Given the description of an element on the screen output the (x, y) to click on. 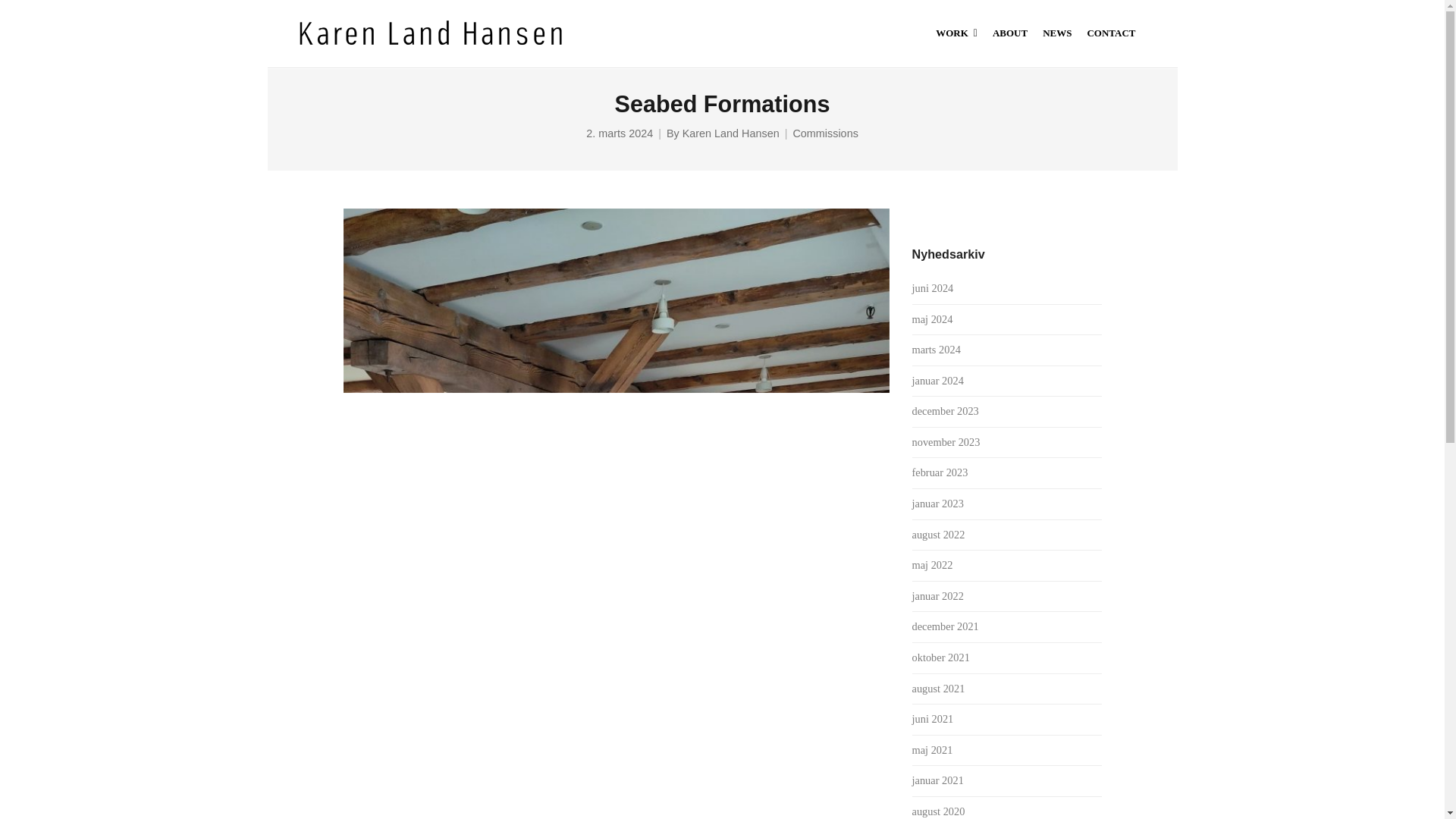
marts 2024 (935, 349)
januar 2023 (936, 503)
maj 2022 (931, 564)
juni 2024 (932, 287)
oktober 2021 (940, 657)
januar 2024 (936, 380)
Karen Land Hansen (730, 133)
maj 2024 (931, 318)
Commissions (824, 133)
View all posts in Commissions (824, 133)
januar 2022 (936, 595)
februar 2023 (939, 472)
november 2023 (945, 441)
december 2021 (944, 625)
december 2023 (944, 410)
